Given the description of an element on the screen output the (x, y) to click on. 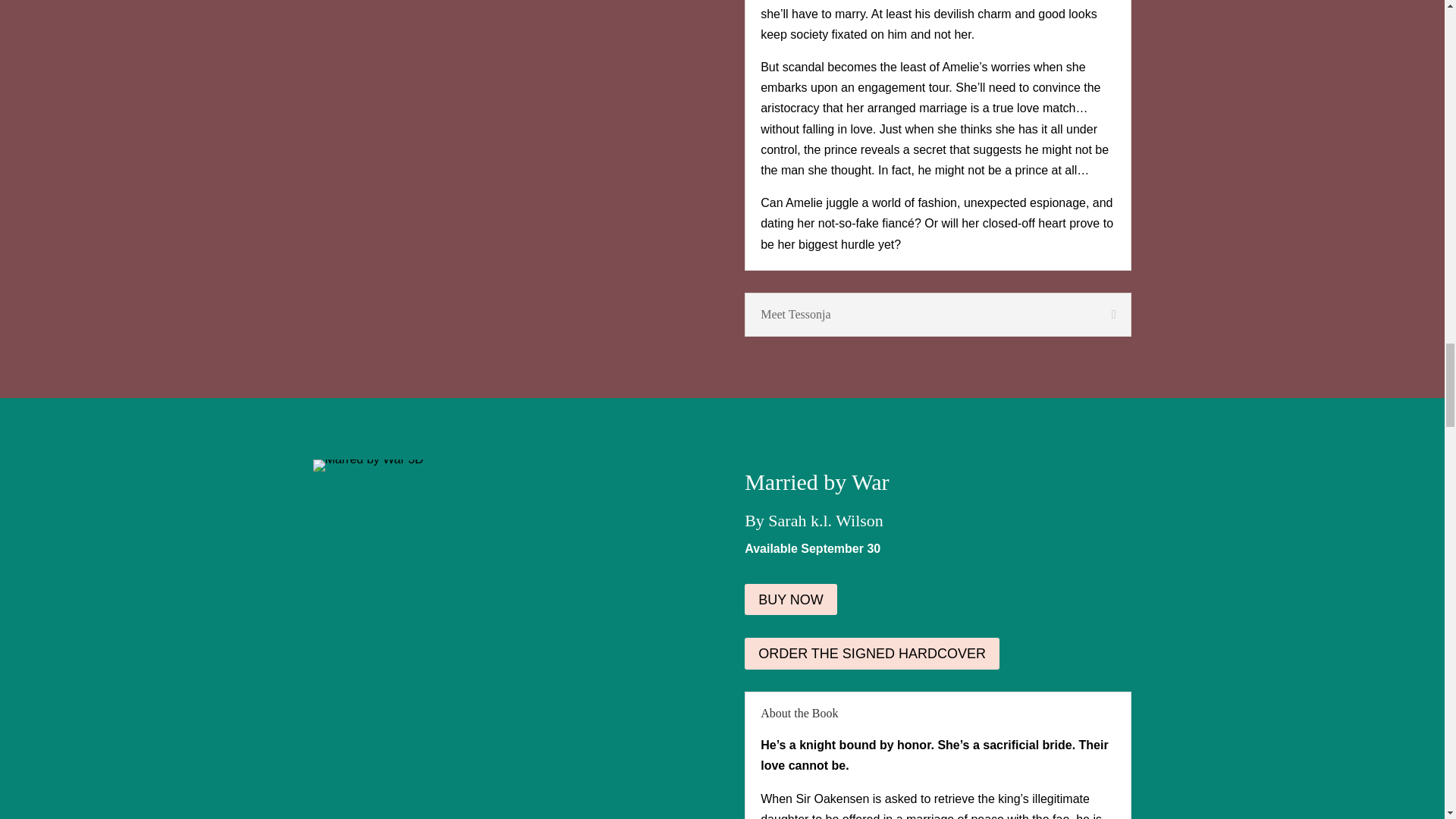
Marred by War 3D (368, 465)
ORDER THE SIGNED HARDCOVER (871, 653)
BUY NOW (790, 599)
